Given the description of an element on the screen output the (x, y) to click on. 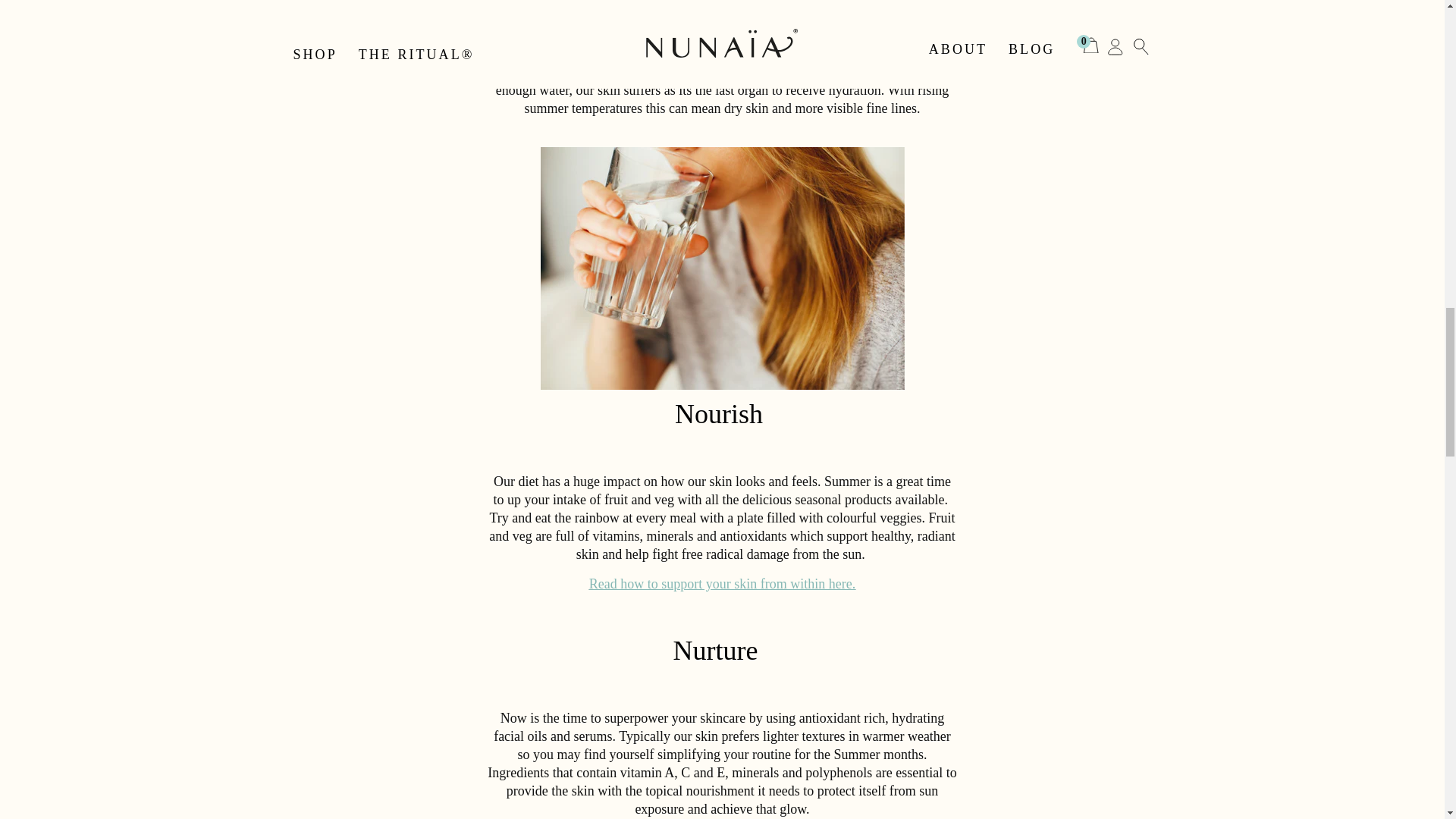
Nunaia Beauty - How to support skin from within (722, 583)
